Given the description of an element on the screen output the (x, y) to click on. 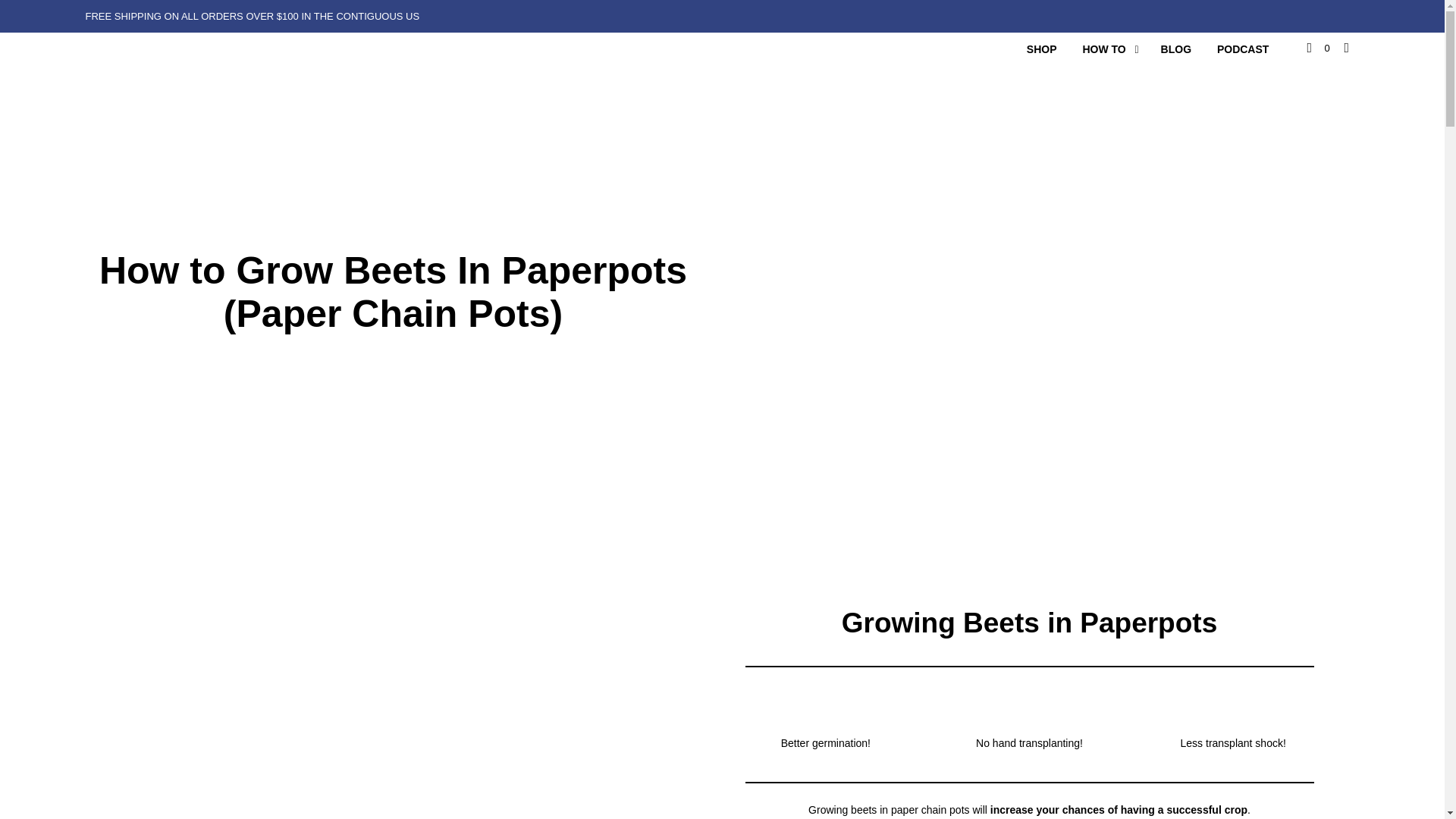
SHOP (1041, 49)
HOW TO (1103, 49)
